Given the description of an element on the screen output the (x, y) to click on. 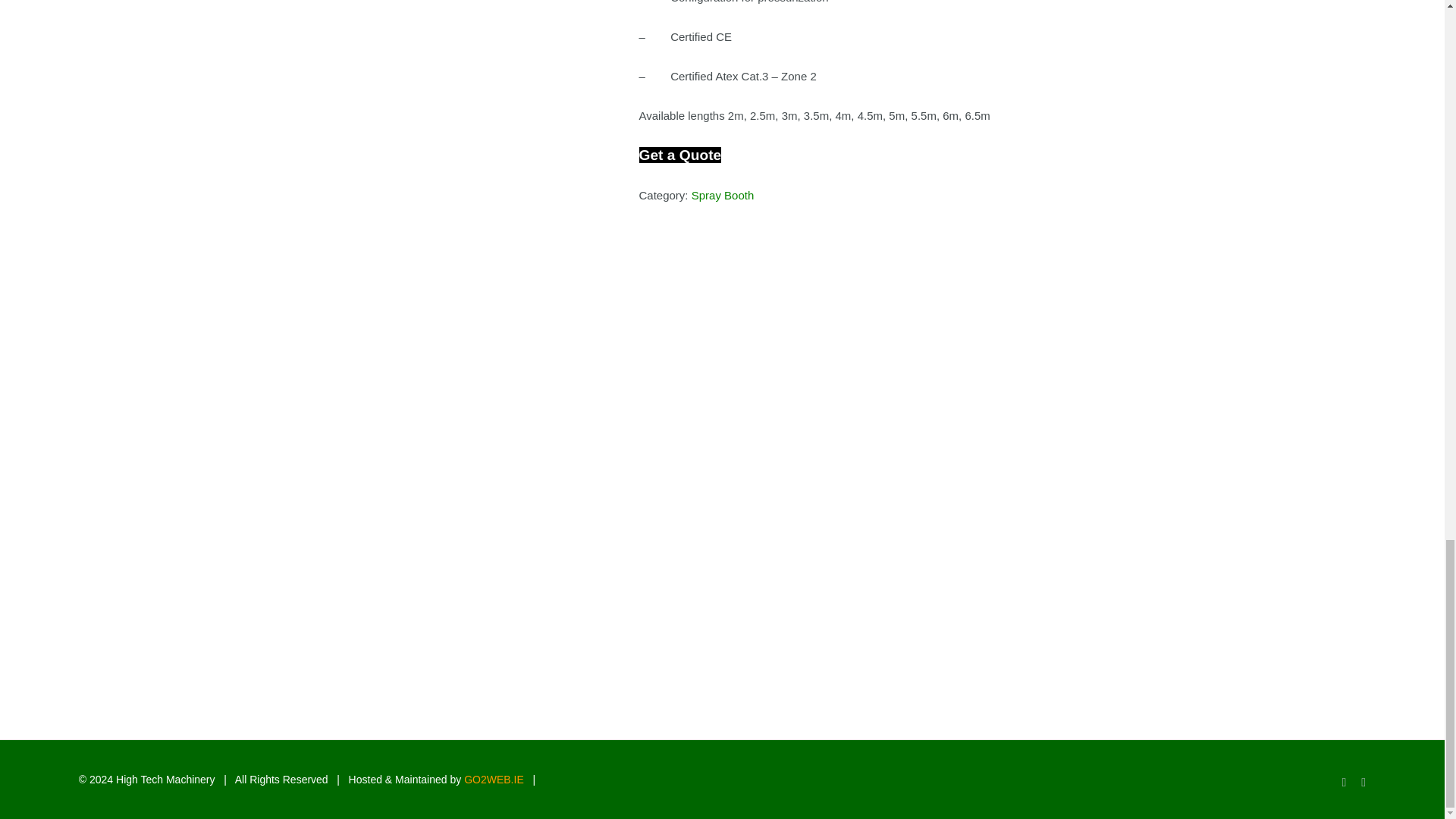
Facebook (1344, 782)
LinkedIn (1363, 782)
